Given the description of an element on the screen output the (x, y) to click on. 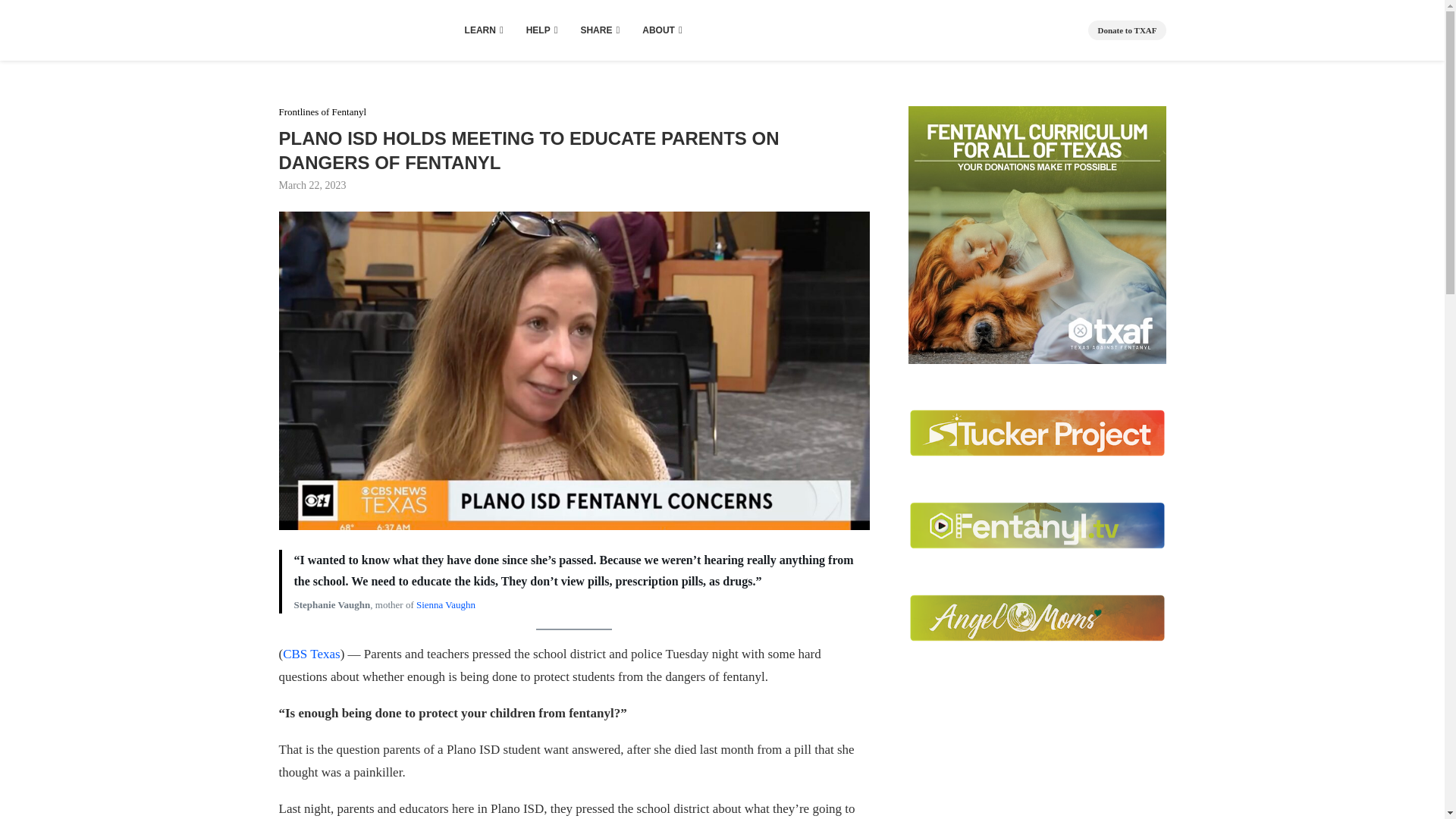
LEARN (483, 30)
